Given the description of an element on the screen output the (x, y) to click on. 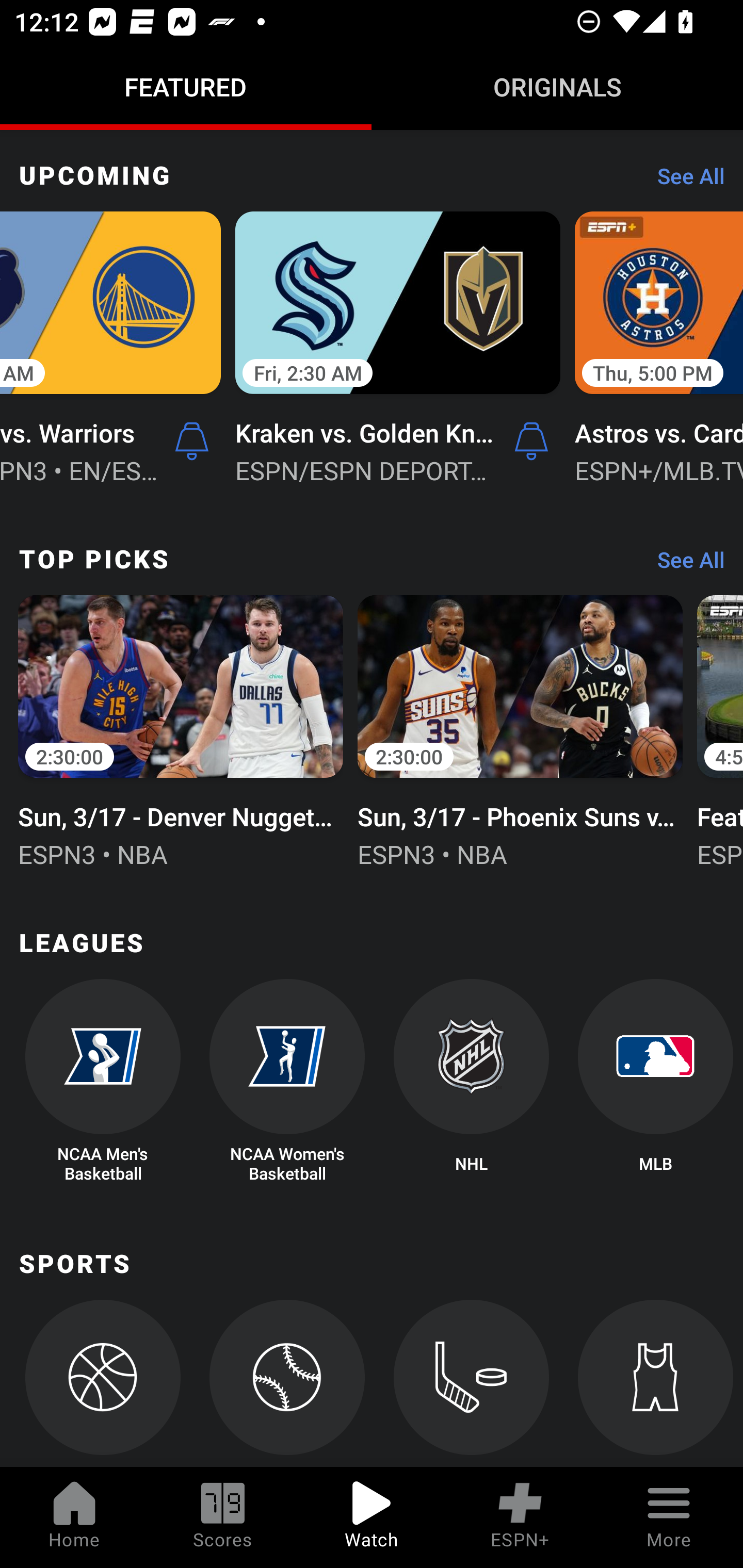
Originals ORIGINALS (557, 86)
See All (683, 180)
Alerts (191, 441)
Alerts (531, 441)
See All (683, 564)
NCAA Men's Basketball (102, 1081)
NCAA Women's Basketball (286, 1081)
NHL (471, 1081)
MLB (655, 1081)
Basketball (102, 1383)
Baseball (286, 1383)
Hockey (471, 1383)
Wrestling (655, 1383)
Home (74, 1517)
Scores (222, 1517)
ESPN+ (519, 1517)
More (668, 1517)
